Given the description of an element on the screen output the (x, y) to click on. 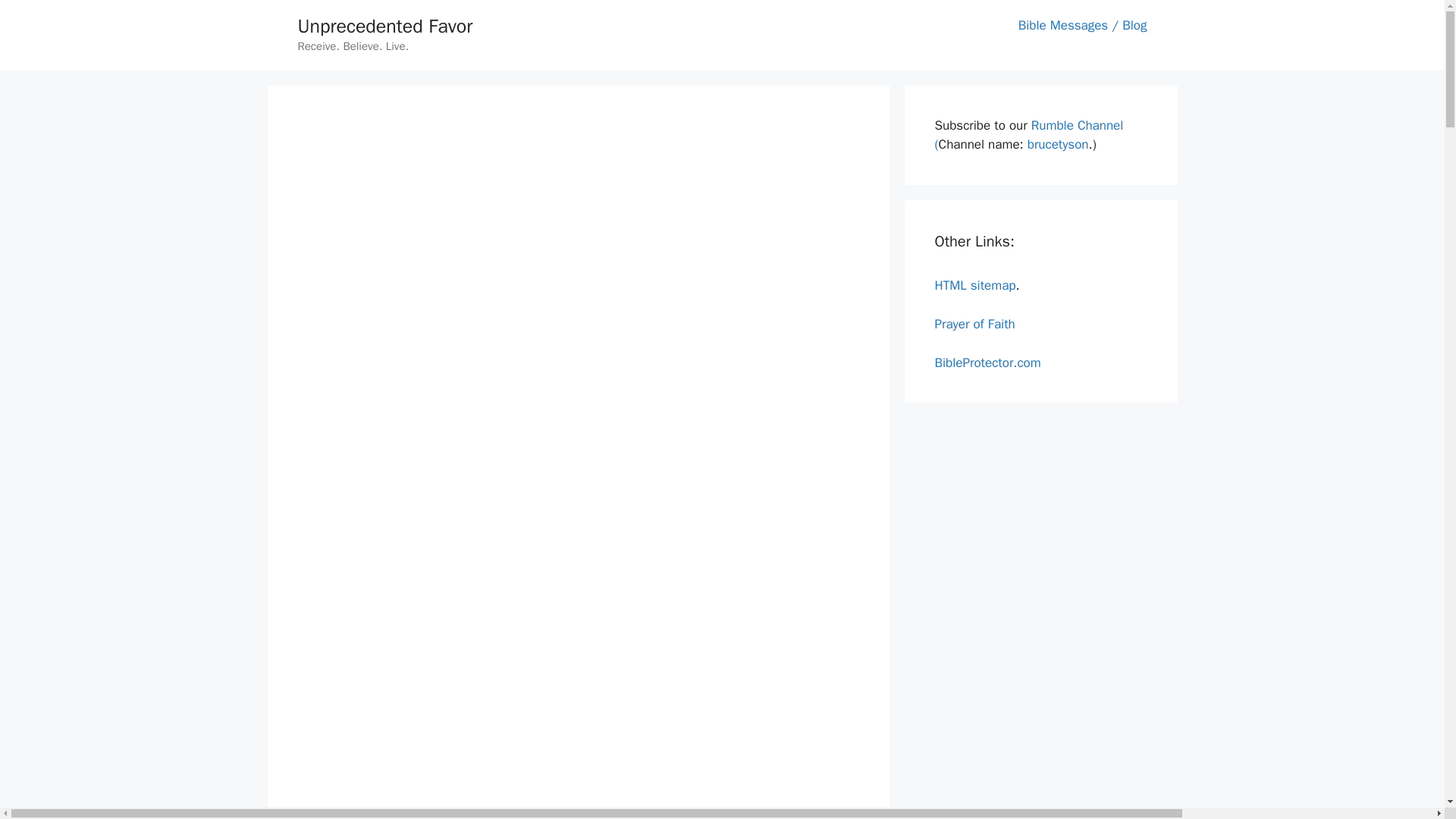
Unprecedented Favor (384, 25)
HTML sitemap (974, 285)
BibleProtector.com (987, 362)
brucetyson (1058, 144)
Prayer of Faith (974, 323)
